Given the description of an element on the screen output the (x, y) to click on. 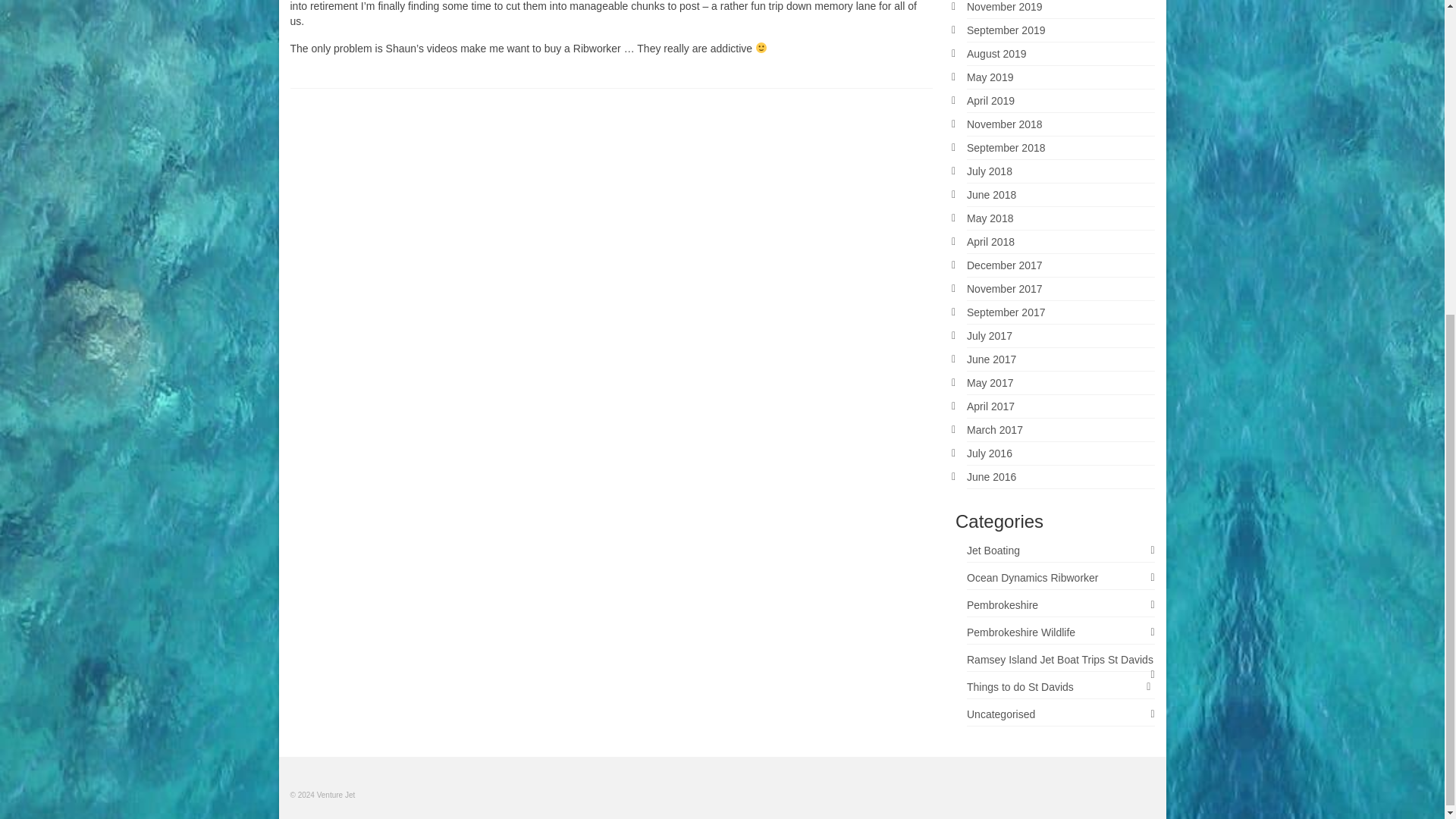
April 2019 (990, 101)
May 2019 (989, 77)
November 2018 (1004, 123)
November 2019 (1004, 6)
August 2019 (996, 53)
September 2018 (1005, 147)
September 2019 (1005, 30)
